Given the description of an element on the screen output the (x, y) to click on. 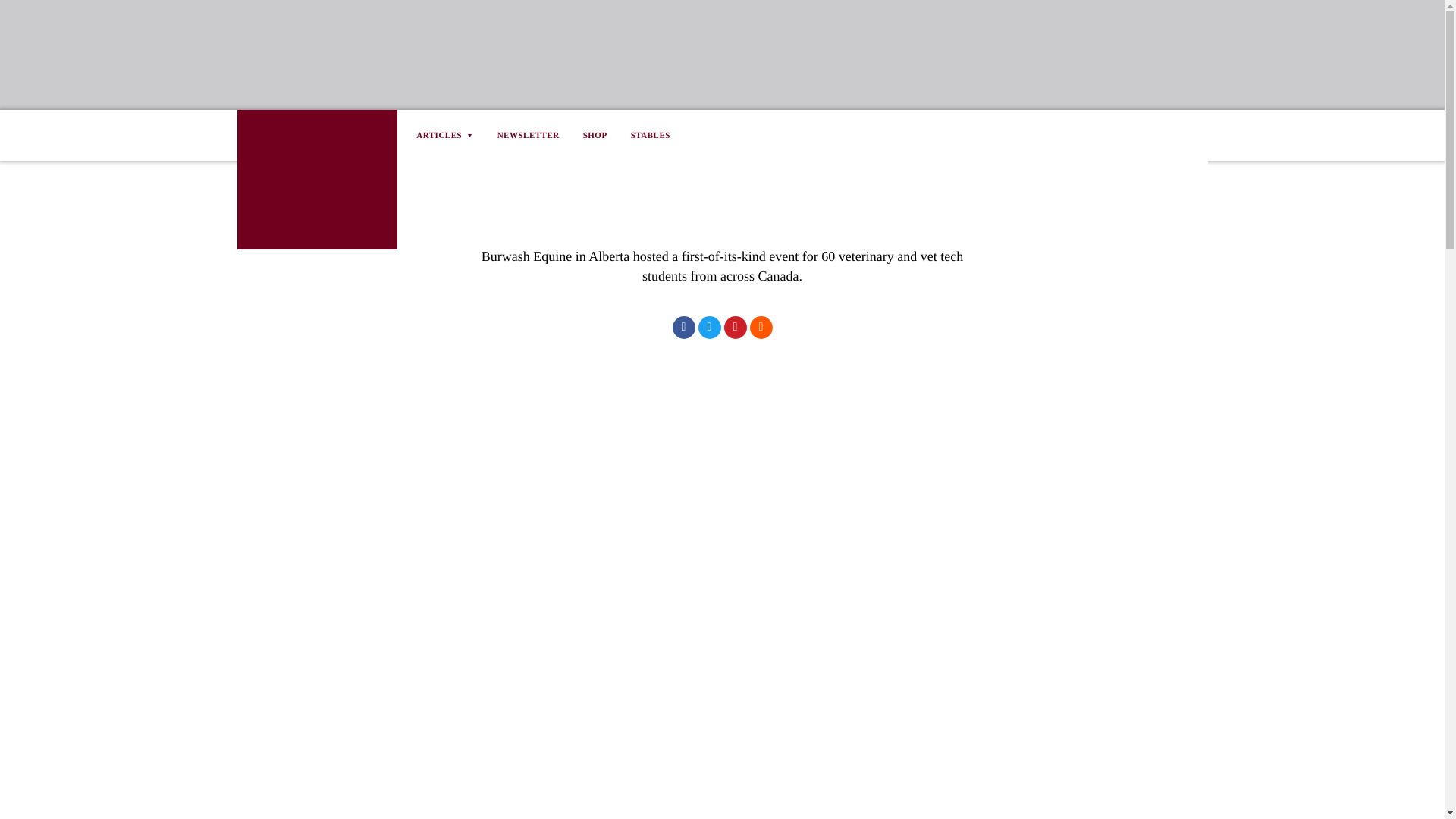
ARTICLES (450, 134)
STABLES (649, 134)
SHOP (594, 134)
NEWSLETTER (527, 134)
